Given the description of an element on the screen output the (x, y) to click on. 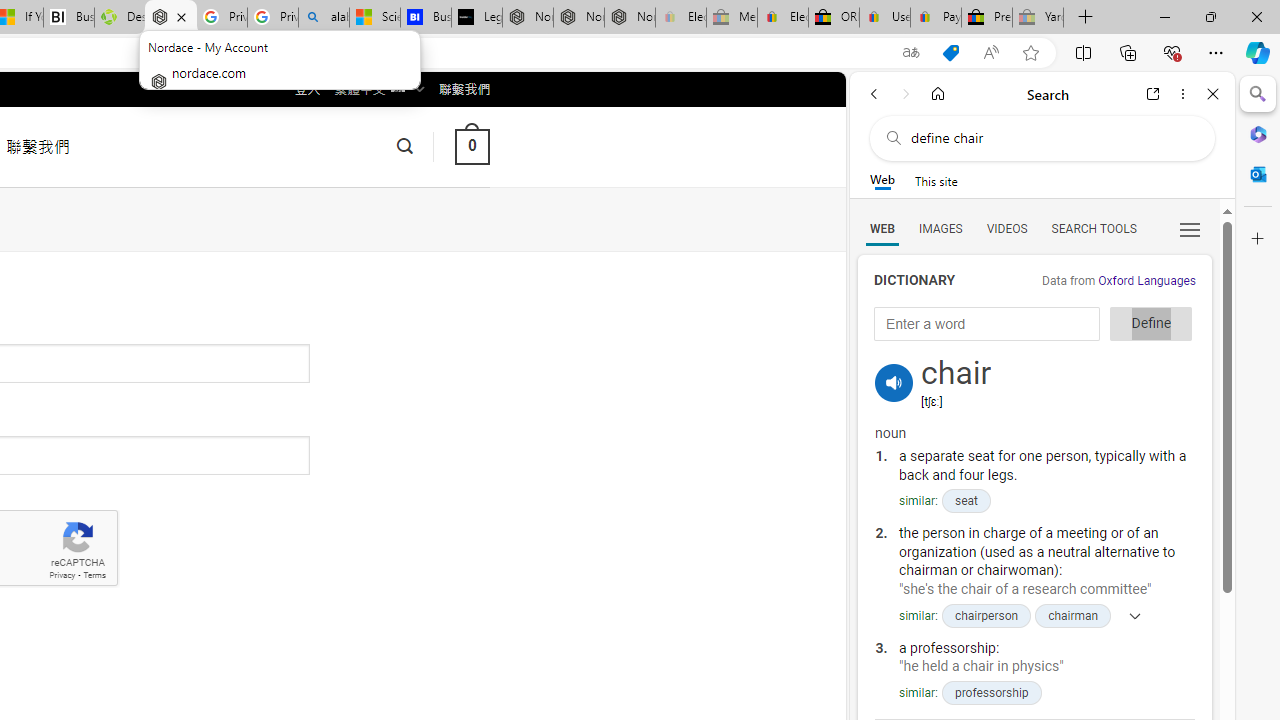
Show more (1129, 615)
chairman (1073, 615)
Oxford Languages (1146, 281)
